Given the description of an element on the screen output the (x, y) to click on. 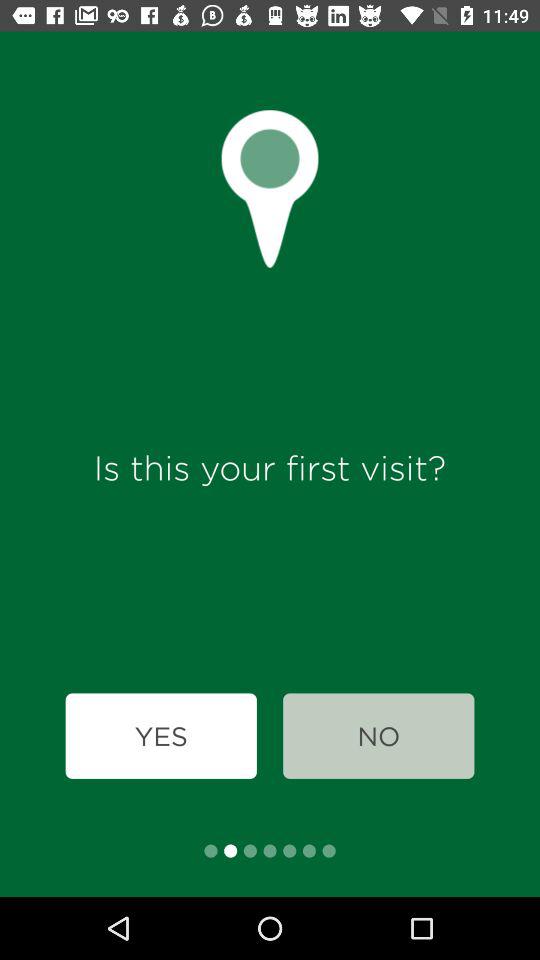
click item next to yes icon (378, 735)
